Given the description of an element on the screen output the (x, y) to click on. 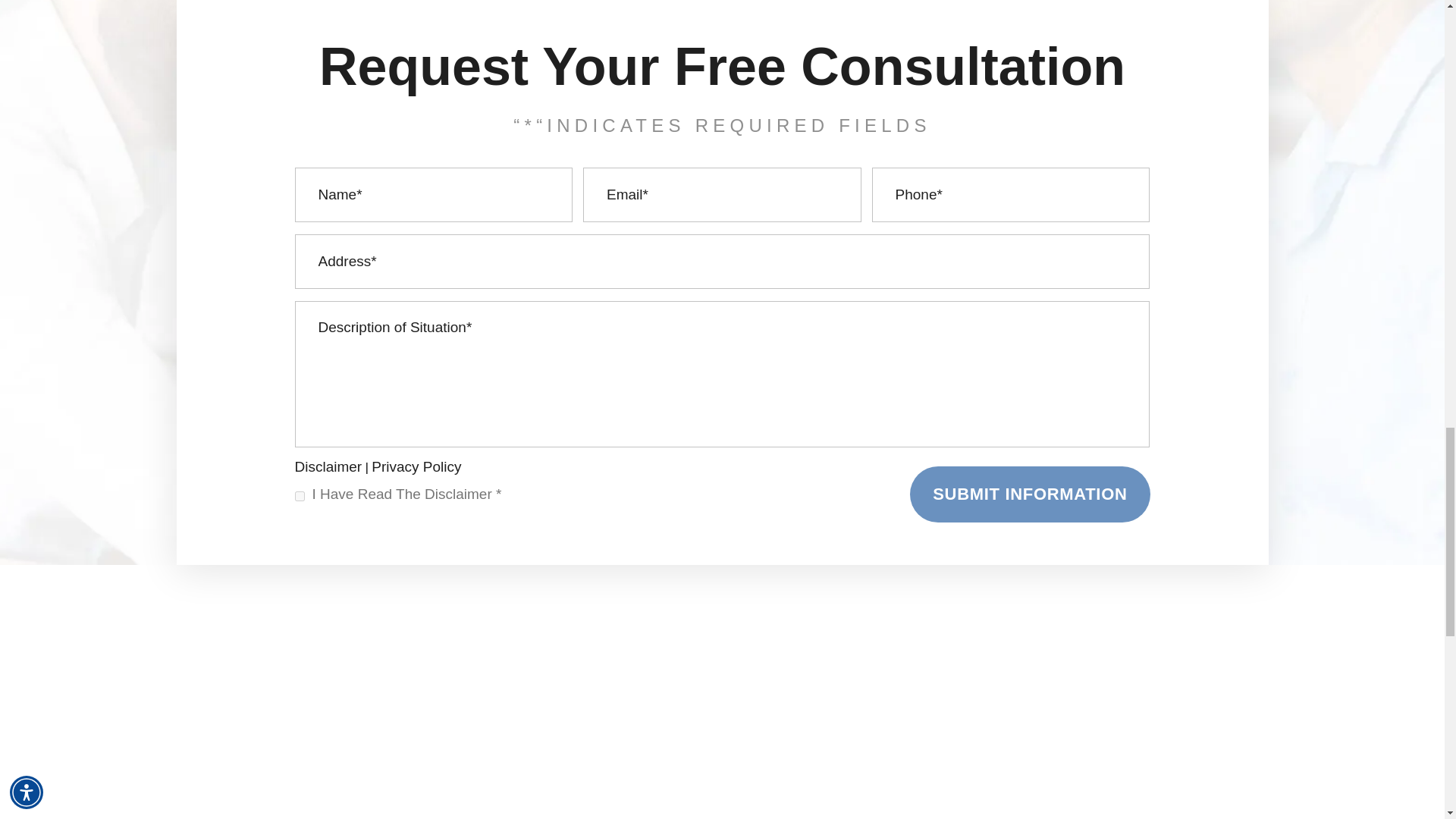
submit information (1030, 494)
